Given the description of an element on the screen output the (x, y) to click on. 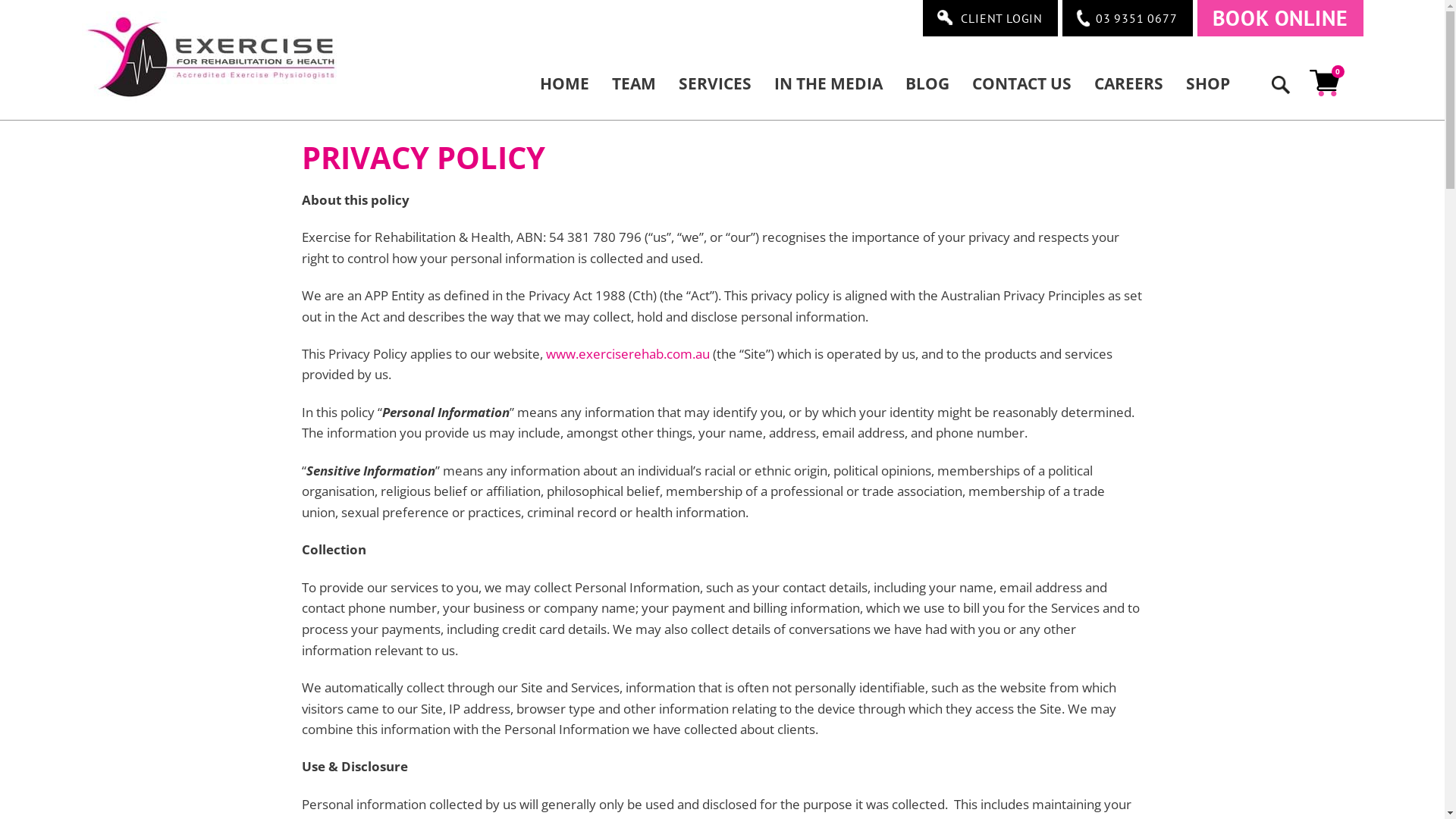
03 9351 0677 Element type: text (1127, 18)
CONTACT US Element type: text (1021, 83)
SHOP Element type: text (1206, 83)
0 Element type: text (1325, 82)
HOME Element type: text (569, 83)
BLOG Element type: text (926, 83)
CAREERS Element type: text (1128, 83)
BOOK ONLINE Element type: text (1280, 18)
CLIENT LOGIN Element type: text (989, 18)
www.exerciserehab.com.au Element type: text (627, 353)
TEAM Element type: text (633, 83)
IN THE MEDIA Element type: text (828, 83)
SERVICES Element type: text (714, 83)
